Given the description of an element on the screen output the (x, y) to click on. 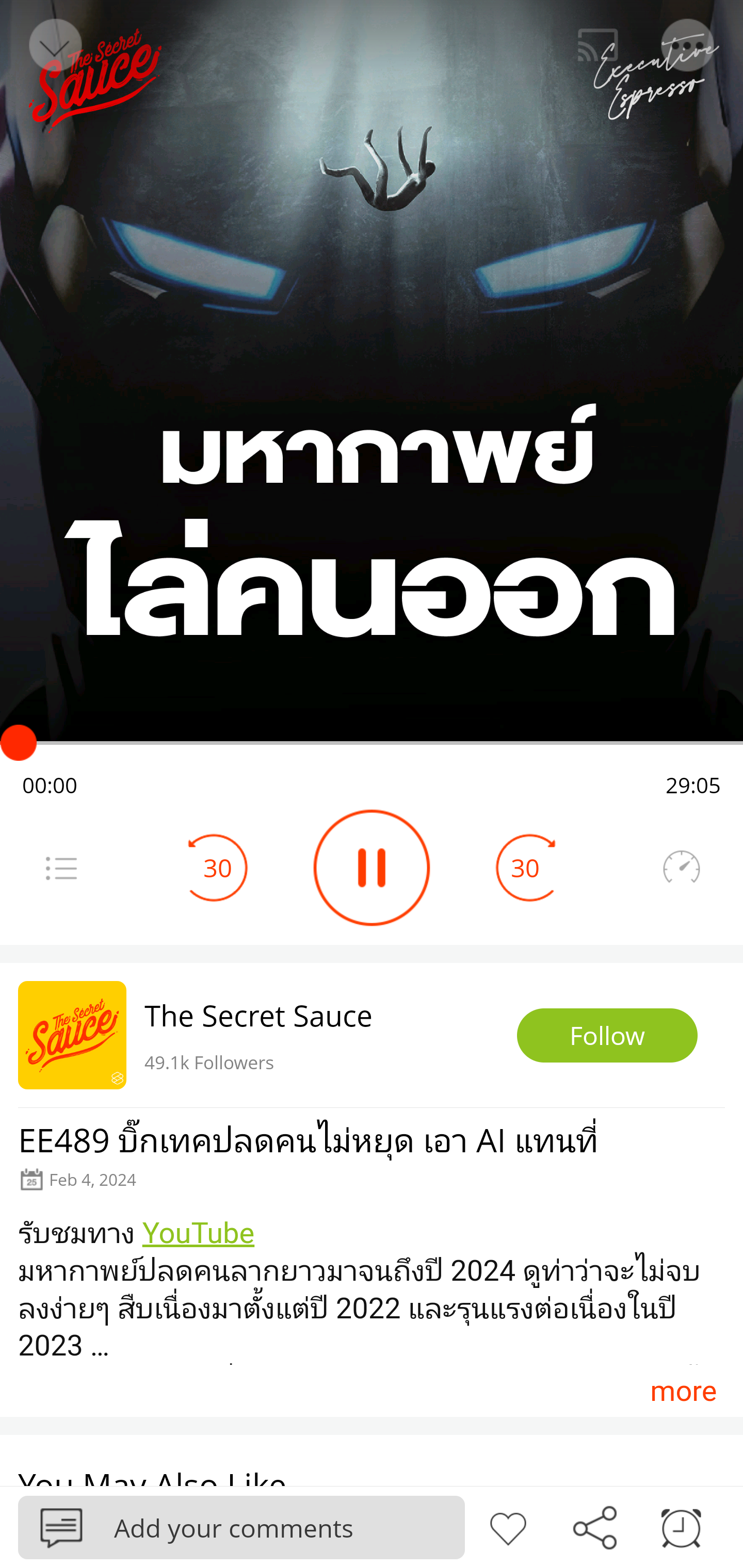
Back (53, 45)
Cast. Disconnected (597, 45)
Menu (688, 45)
Play (371, 867)
30 Seek Backward (217, 867)
30 Seek Forward (525, 867)
Menu (60, 867)
Speedometer (681, 867)
The Secret Sauce 49.1k Followers Follow (371, 1034)
Follow (607, 1035)
YouTube (198, 1233)
more (682, 1390)
Like (508, 1526)
Share (594, 1526)
Sleep timer (681, 1526)
Podbean Add your comments (241, 1526)
